Given the description of an element on the screen output the (x, y) to click on. 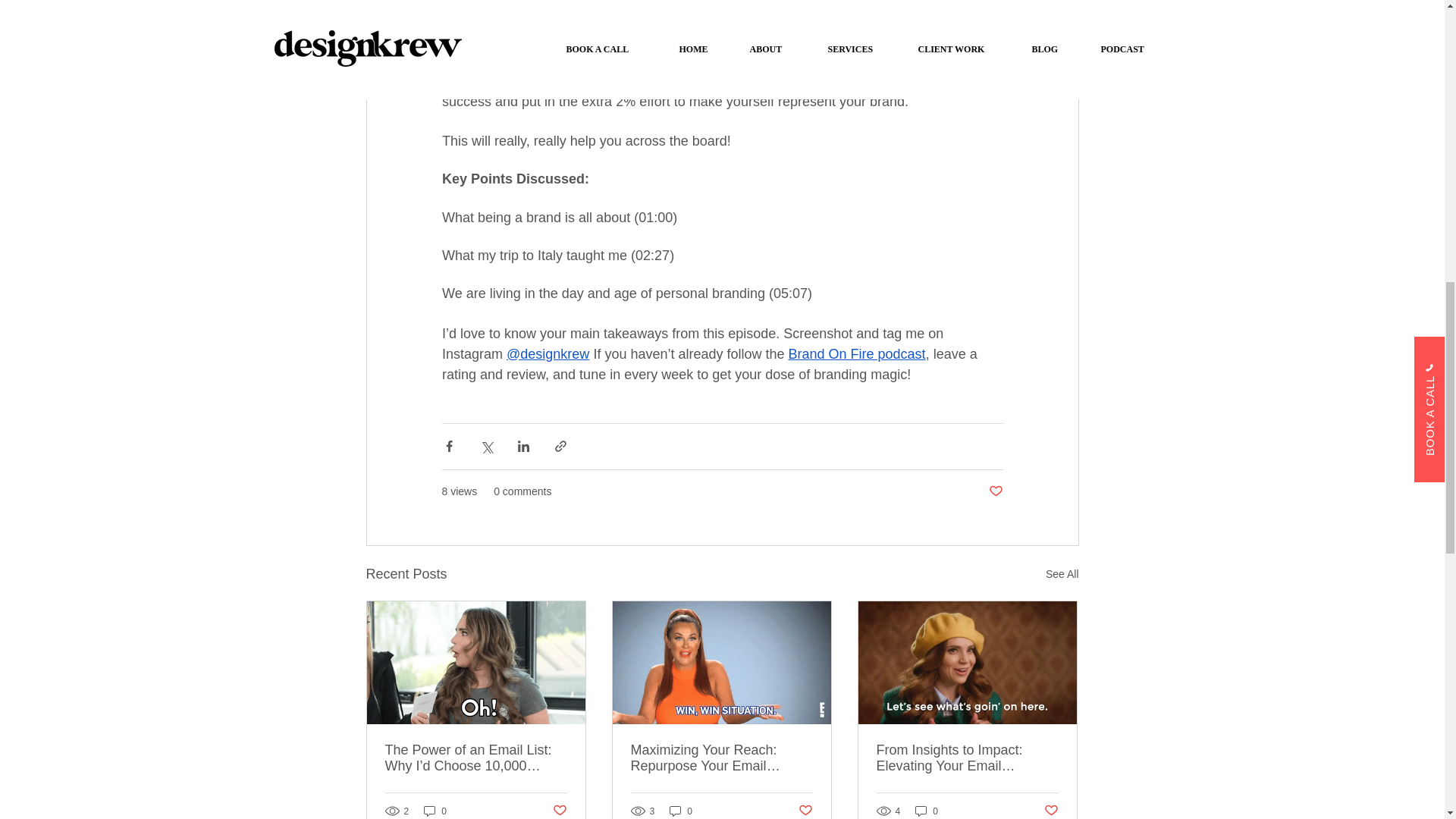
0 (926, 810)
Brand On Fire podcast (855, 353)
Post not marked as liked (1050, 811)
0 (681, 810)
Post not marked as liked (558, 811)
Post not marked as liked (804, 811)
0 (435, 810)
See All (1061, 573)
Post not marked as liked (995, 491)
